Given the description of an element on the screen output the (x, y) to click on. 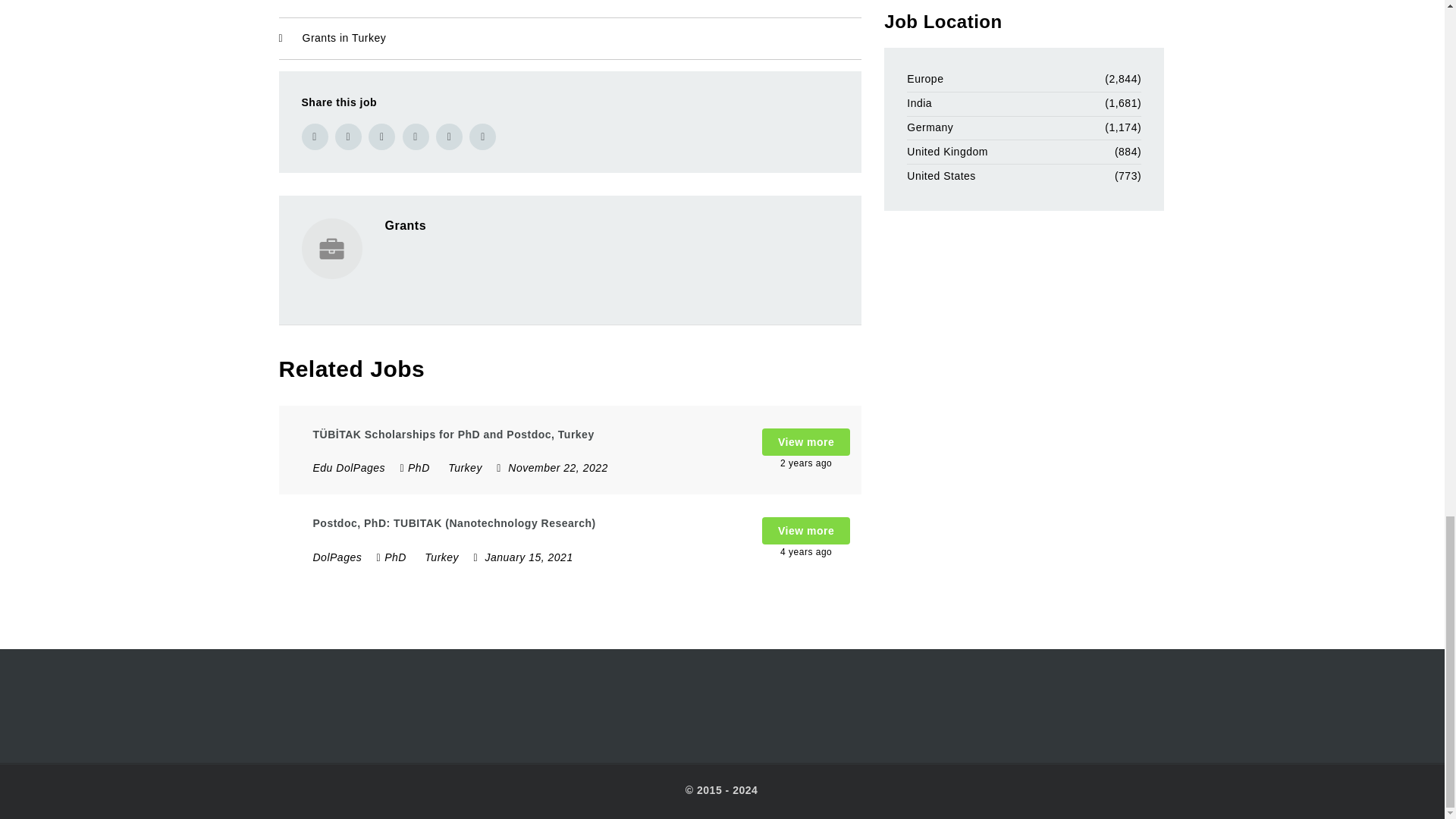
Grants (405, 225)
Share on Whatsapp (482, 136)
Share on Twitter (347, 136)
Share on Facebook (315, 136)
Grants in Turkey (343, 37)
Share on email (449, 136)
Share on LinkedIn (416, 136)
Share on Pinterest (381, 136)
